Given the description of an element on the screen output the (x, y) to click on. 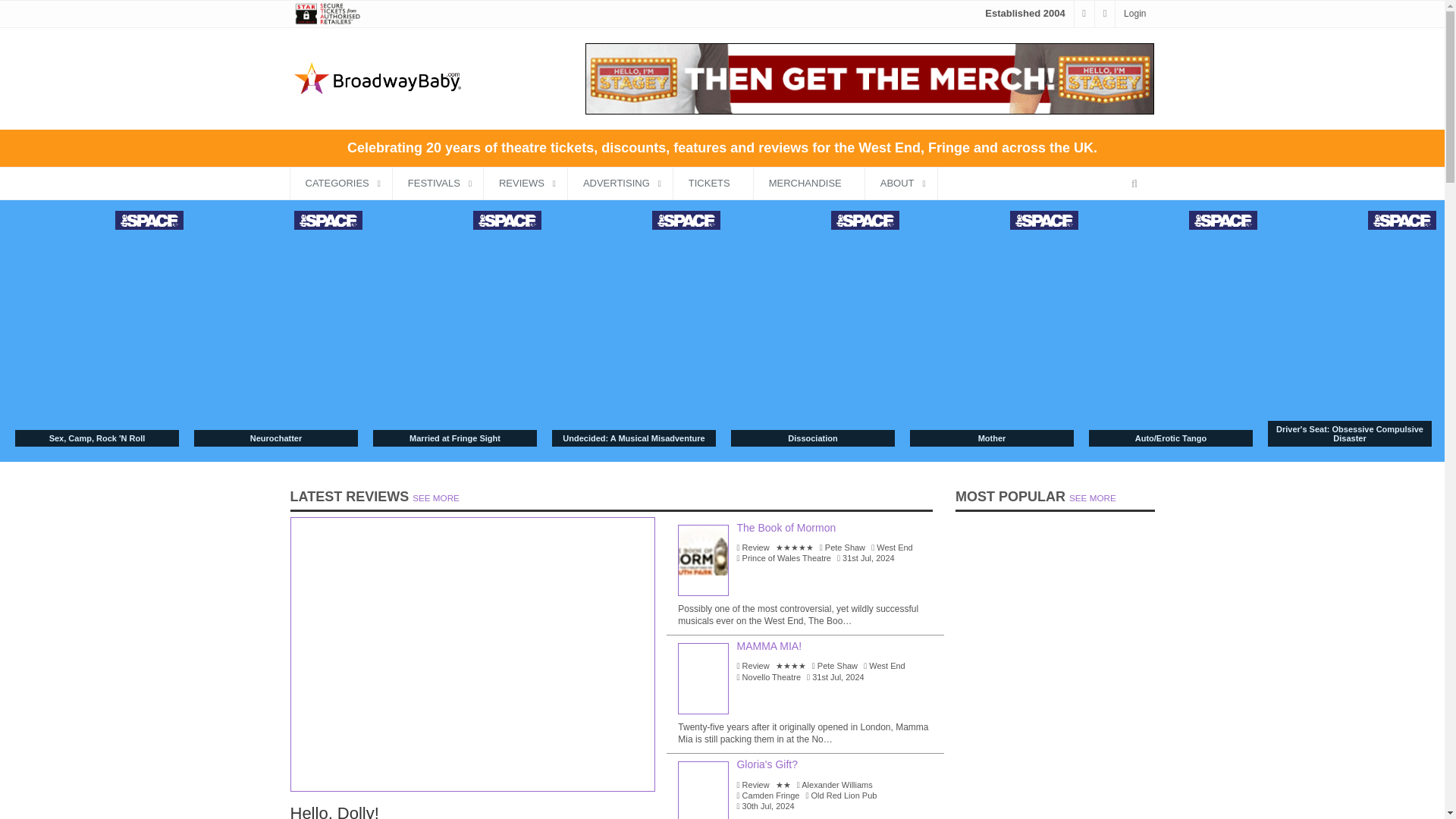
FESTIVALS (438, 183)
Login (1134, 13)
CATEGORIES (340, 183)
